Given the description of an element on the screen output the (x, y) to click on. 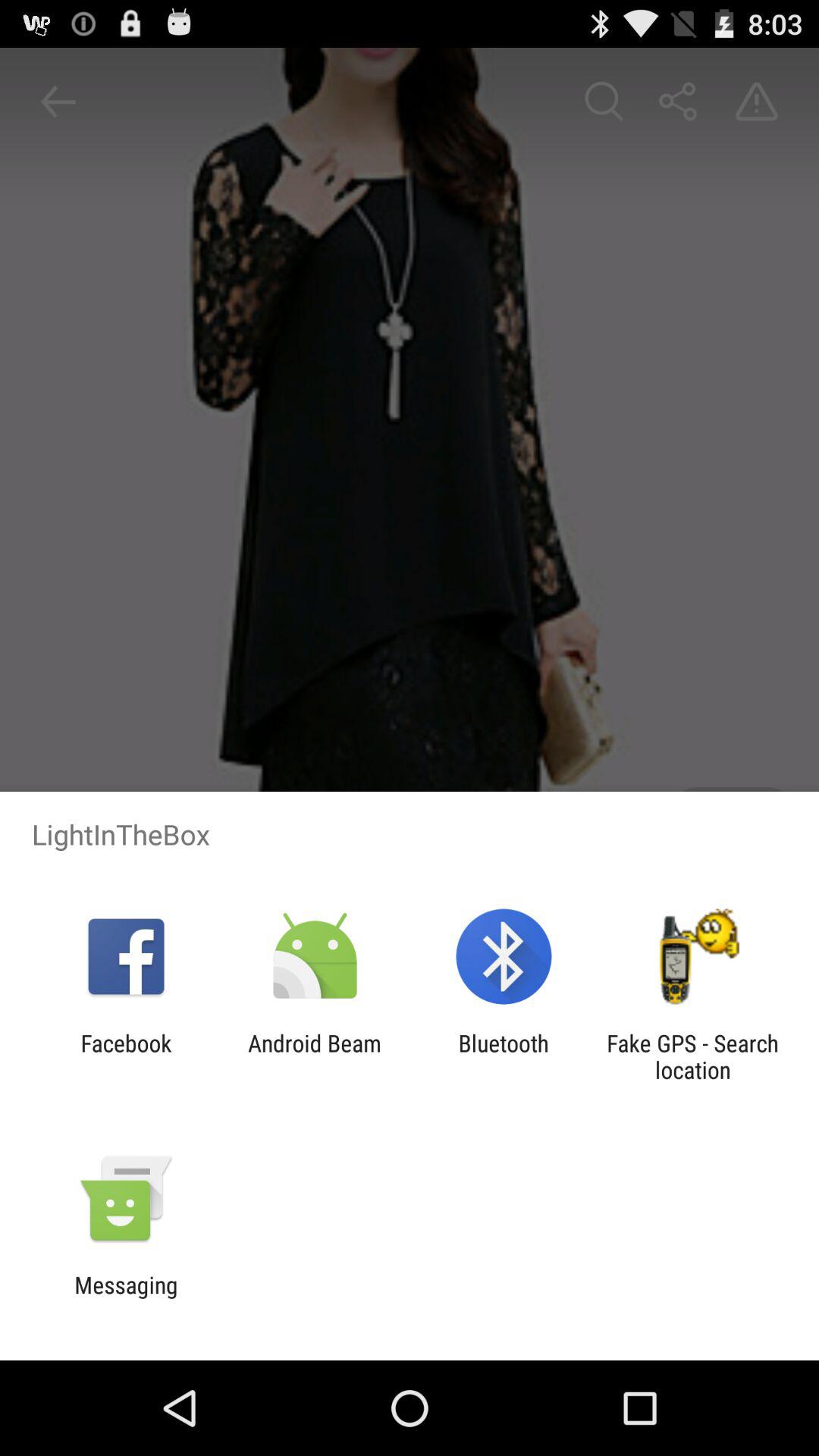
launch the item to the right of the facebook app (314, 1056)
